Given the description of an element on the screen output the (x, y) to click on. 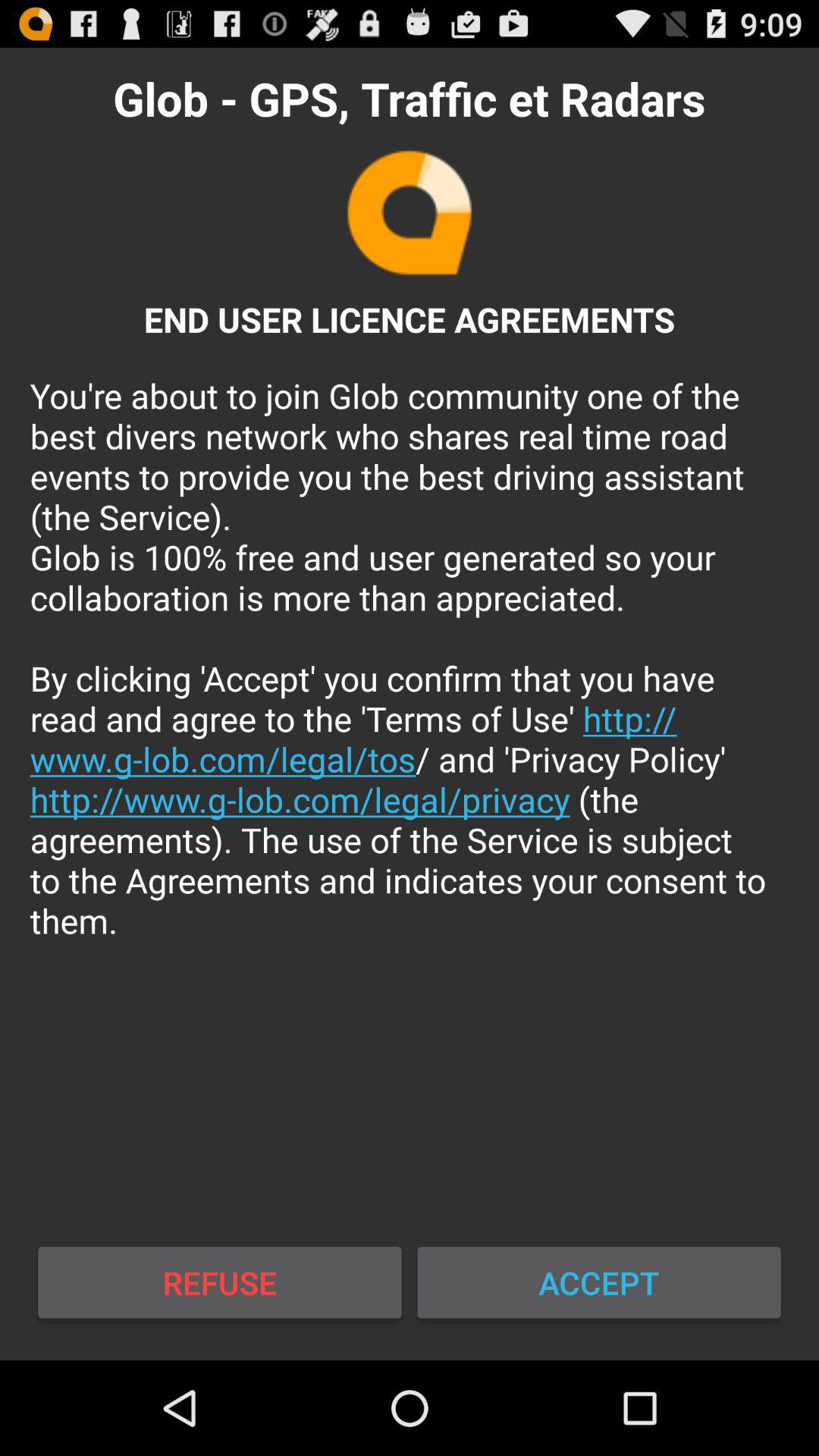
click the refuse icon (219, 1282)
